Given the description of an element on the screen output the (x, y) to click on. 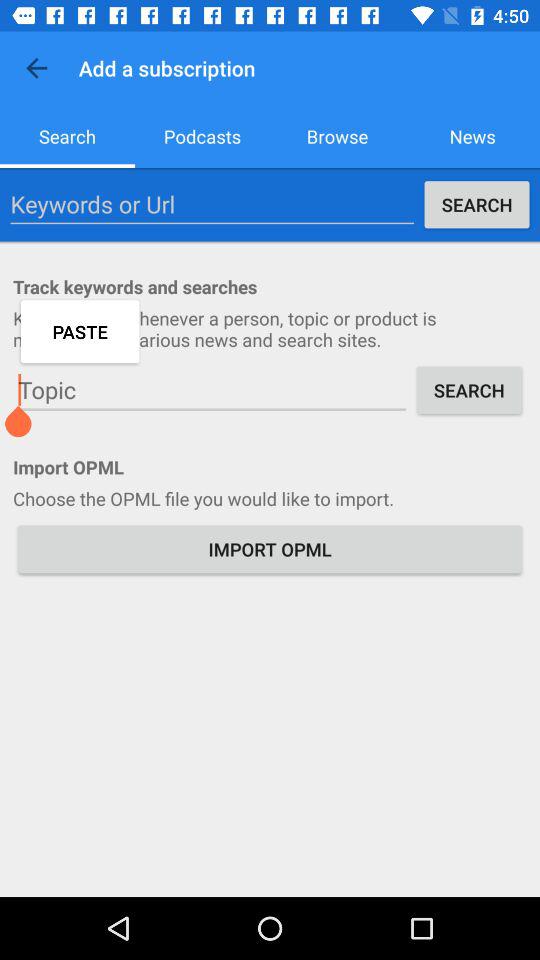
tap the icon next to the podcasts item (337, 136)
